Given the description of an element on the screen output the (x, y) to click on. 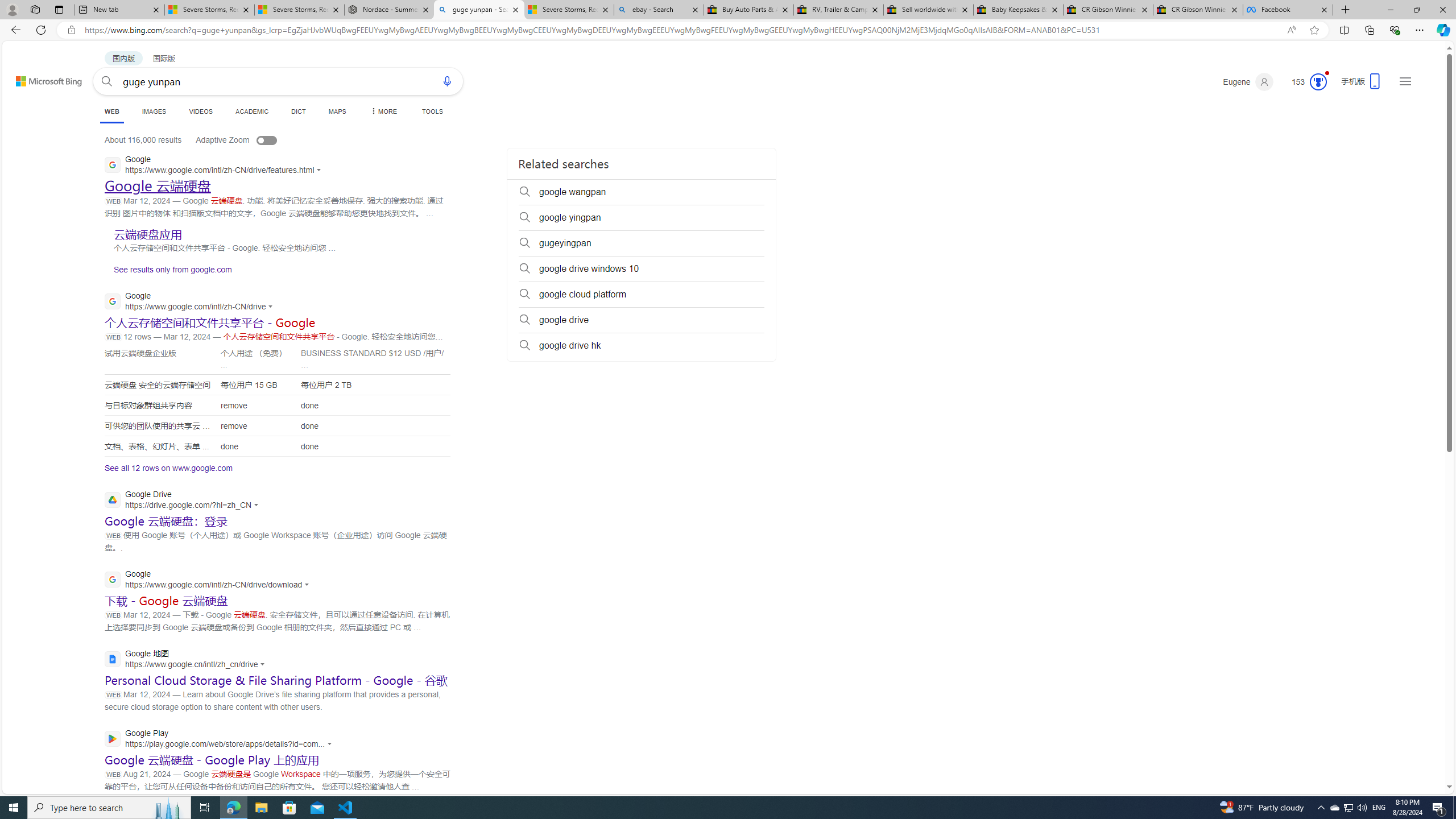
google cloud platform (641, 294)
Google (209, 580)
MORE (382, 111)
WEB (111, 111)
ACADEMIC (252, 111)
Back to Bing search (41, 78)
Personal Profile (12, 9)
AutomationID: mfa_root (1406, 752)
google drive windows 10 (641, 268)
Settings and more (Alt+F) (1419, 29)
Address and search bar (680, 29)
